Given the description of an element on the screen output the (x, y) to click on. 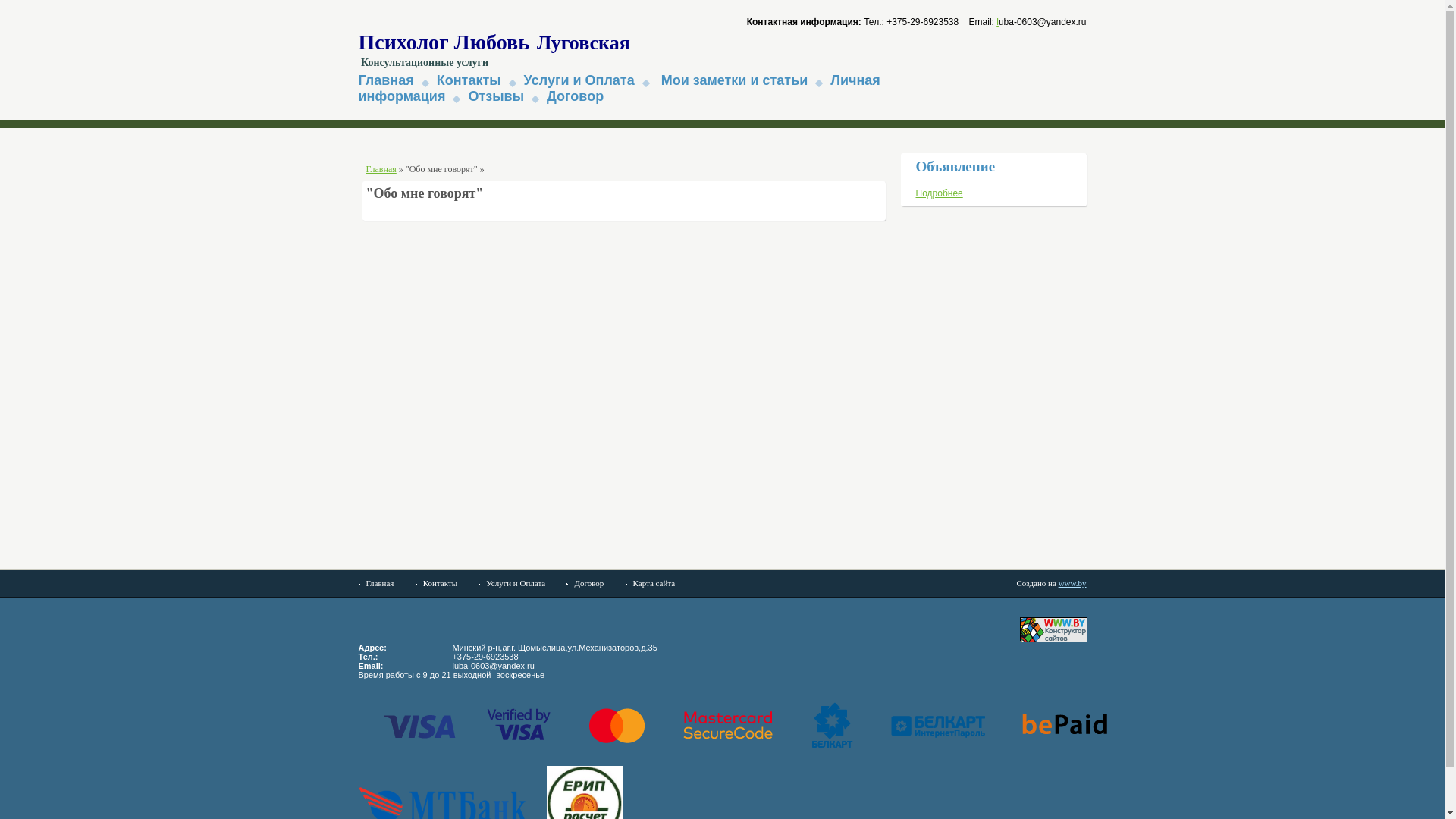
www.by Element type: text (1072, 582)
l Element type: text (997, 21)
